Given the description of an element on the screen output the (x, y) to click on. 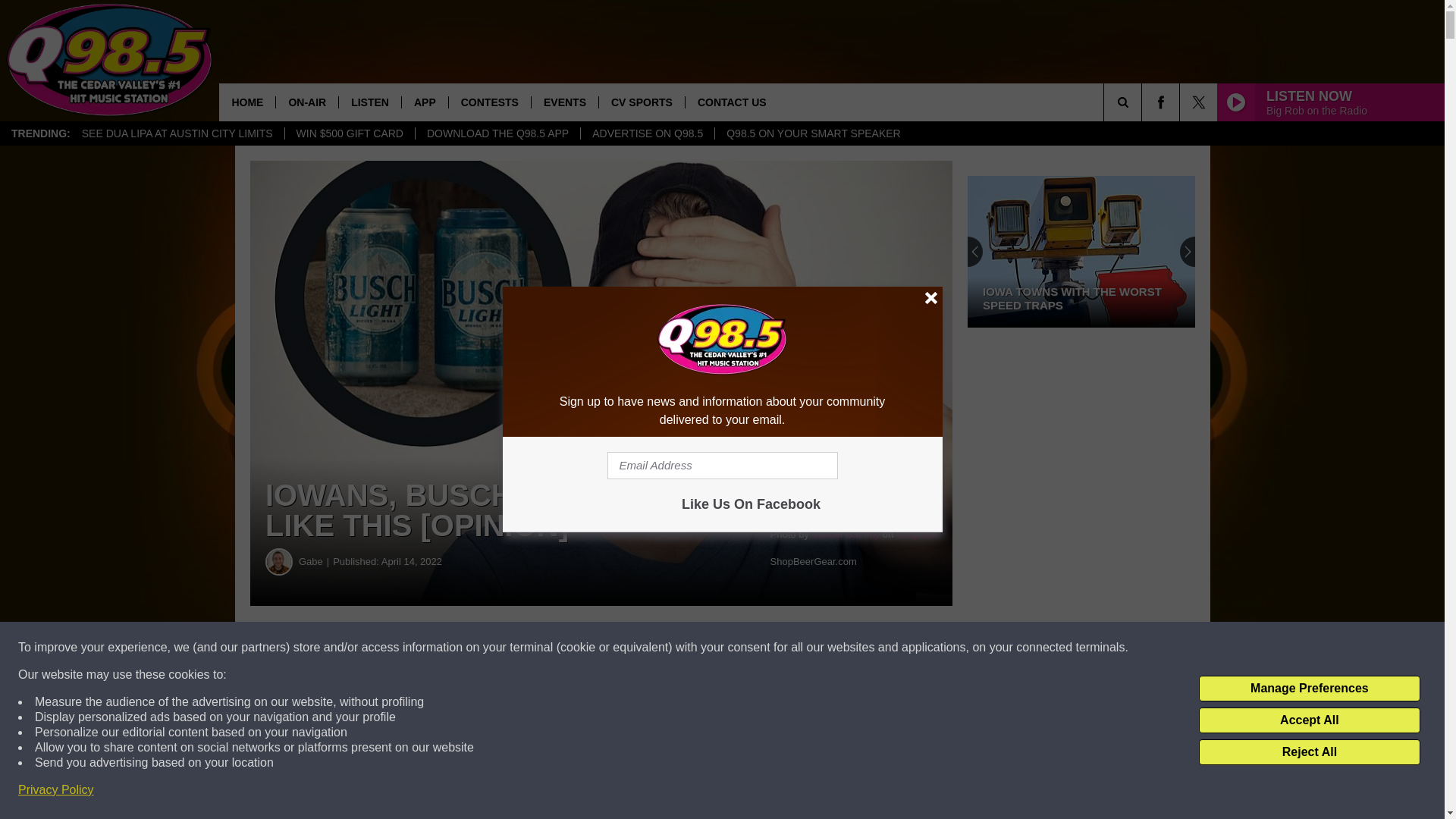
CV SPORTS (641, 102)
Reject All (1309, 751)
SEARCH (1144, 102)
Email Address (722, 465)
DOWNLOAD THE Q98.5 APP (496, 133)
HOME (247, 102)
ON-AIR (306, 102)
SEARCH (1144, 102)
Manage Preferences (1309, 688)
ADVERTISE ON Q98.5 (646, 133)
Accept All (1309, 720)
Share on Twitter (741, 647)
SEE DUA LIPA AT AUSTIN CITY LIMITS (176, 133)
Privacy Policy (55, 789)
Share on Facebook (460, 647)
